Given the description of an element on the screen output the (x, y) to click on. 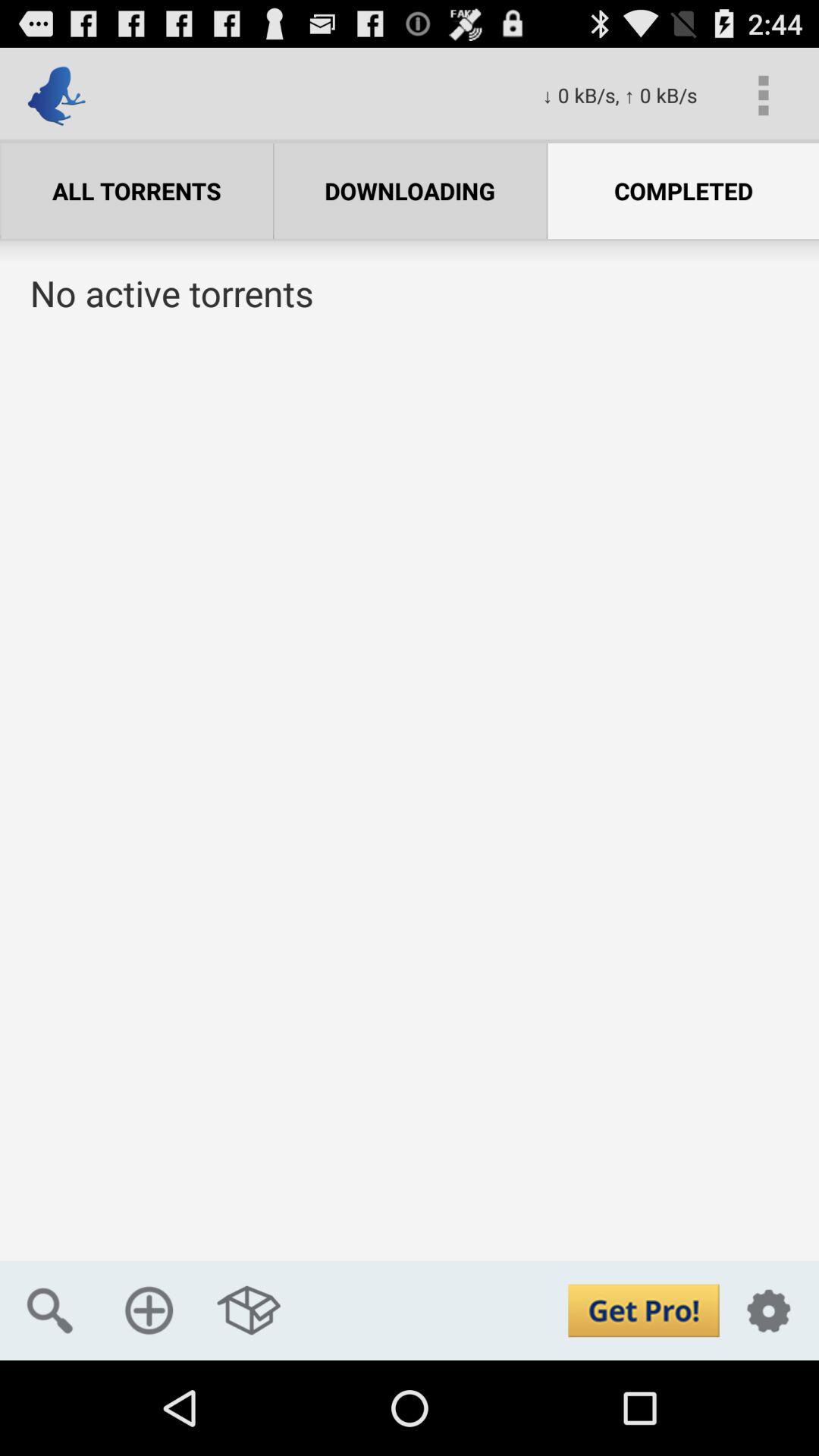
click the item next to 0 kb s (763, 95)
